Given the description of an element on the screen output the (x, y) to click on. 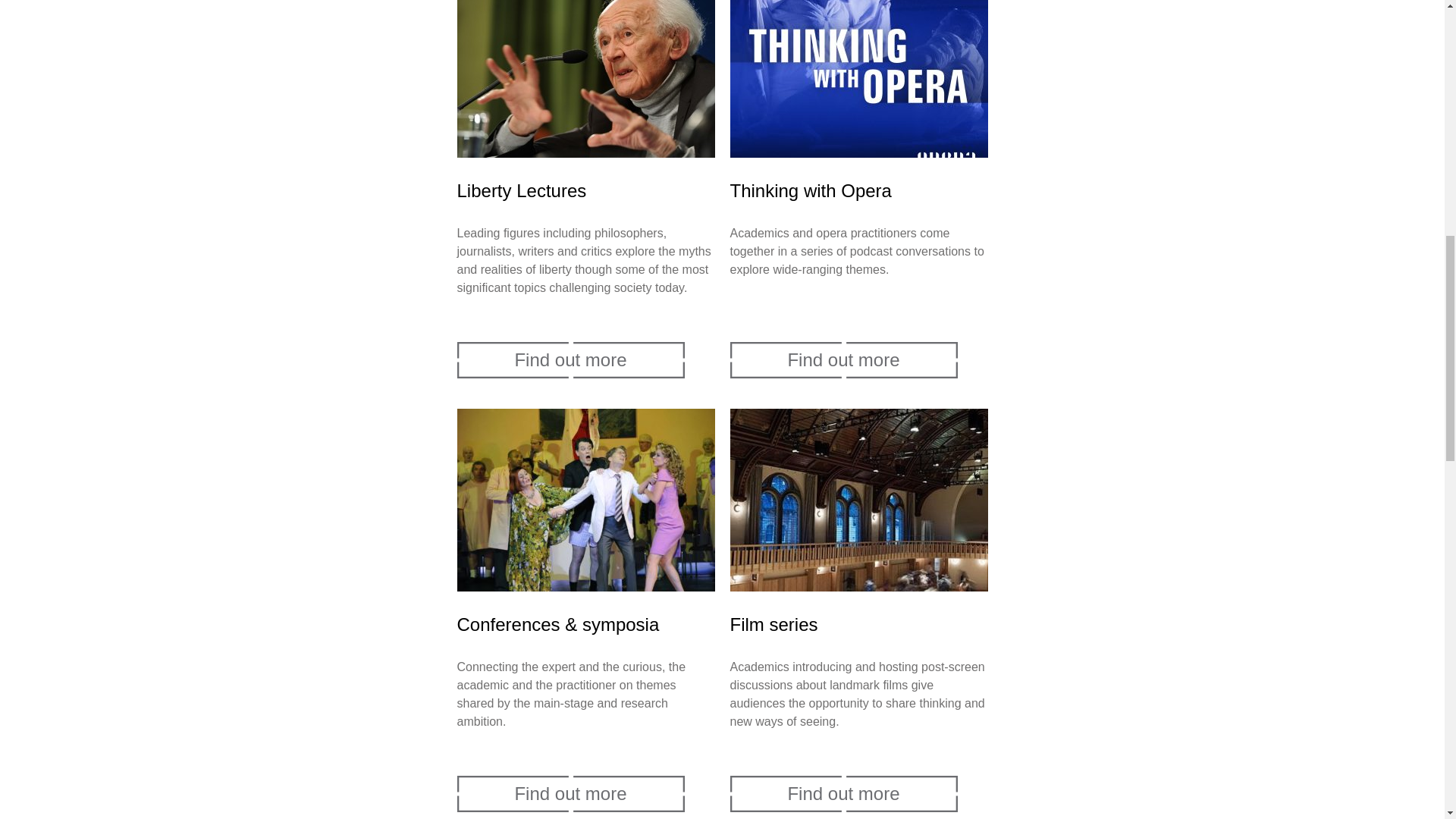
Find out more (570, 793)
Find out more (842, 793)
Find out more (842, 360)
Find out more (570, 360)
